Given the description of an element on the screen output the (x, y) to click on. 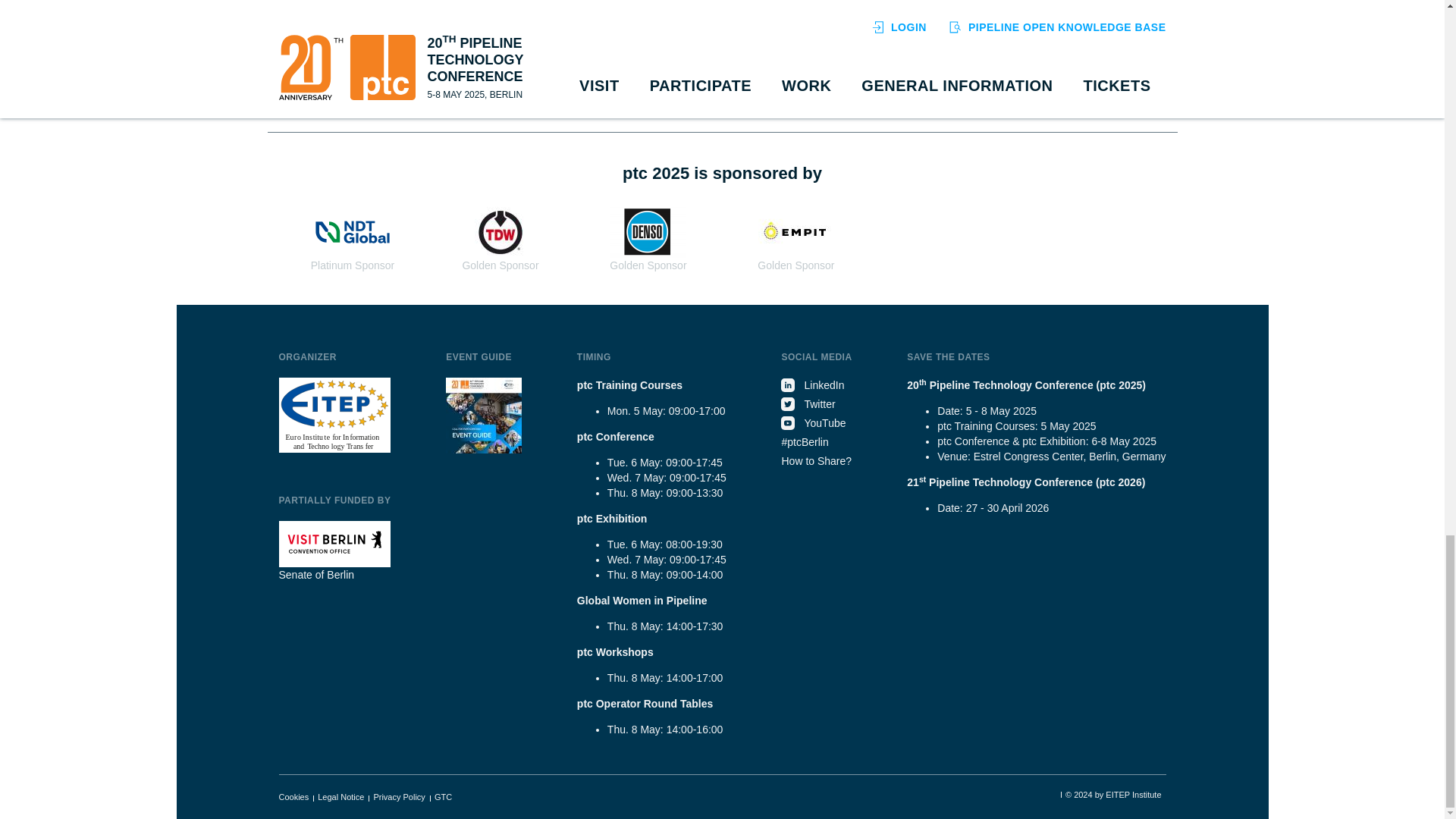
T.D. Williamson (500, 232)
DENSO (647, 232)
EITEP GTC (442, 796)
